Given the description of an element on the screen output the (x, y) to click on. 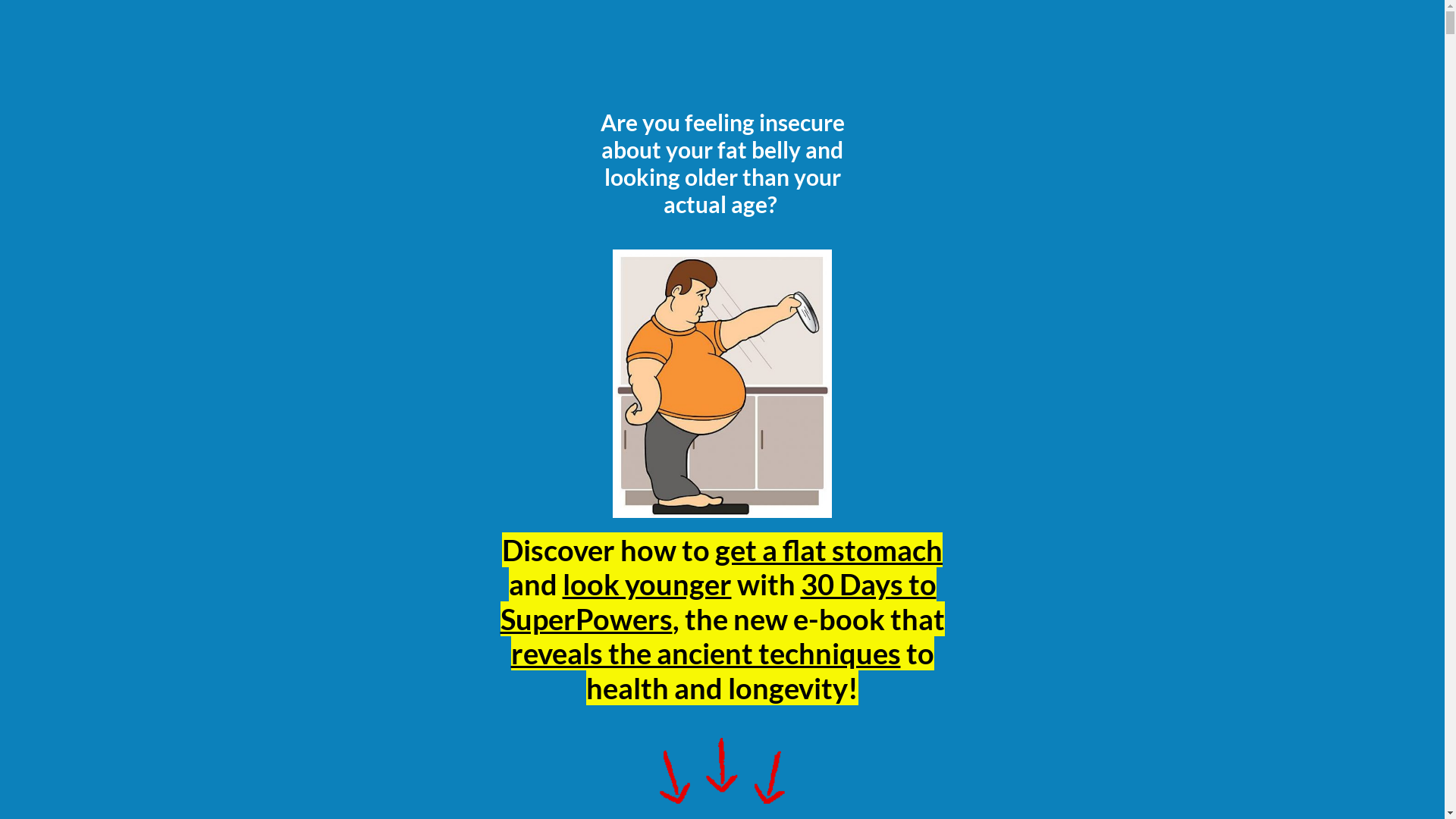
cartoon-potbelly-man-on-scales-476x582 Element type: hover (721, 383)
arrows-3-150x79 Element type: hover (721, 773)
